Given the description of an element on the screen output the (x, y) to click on. 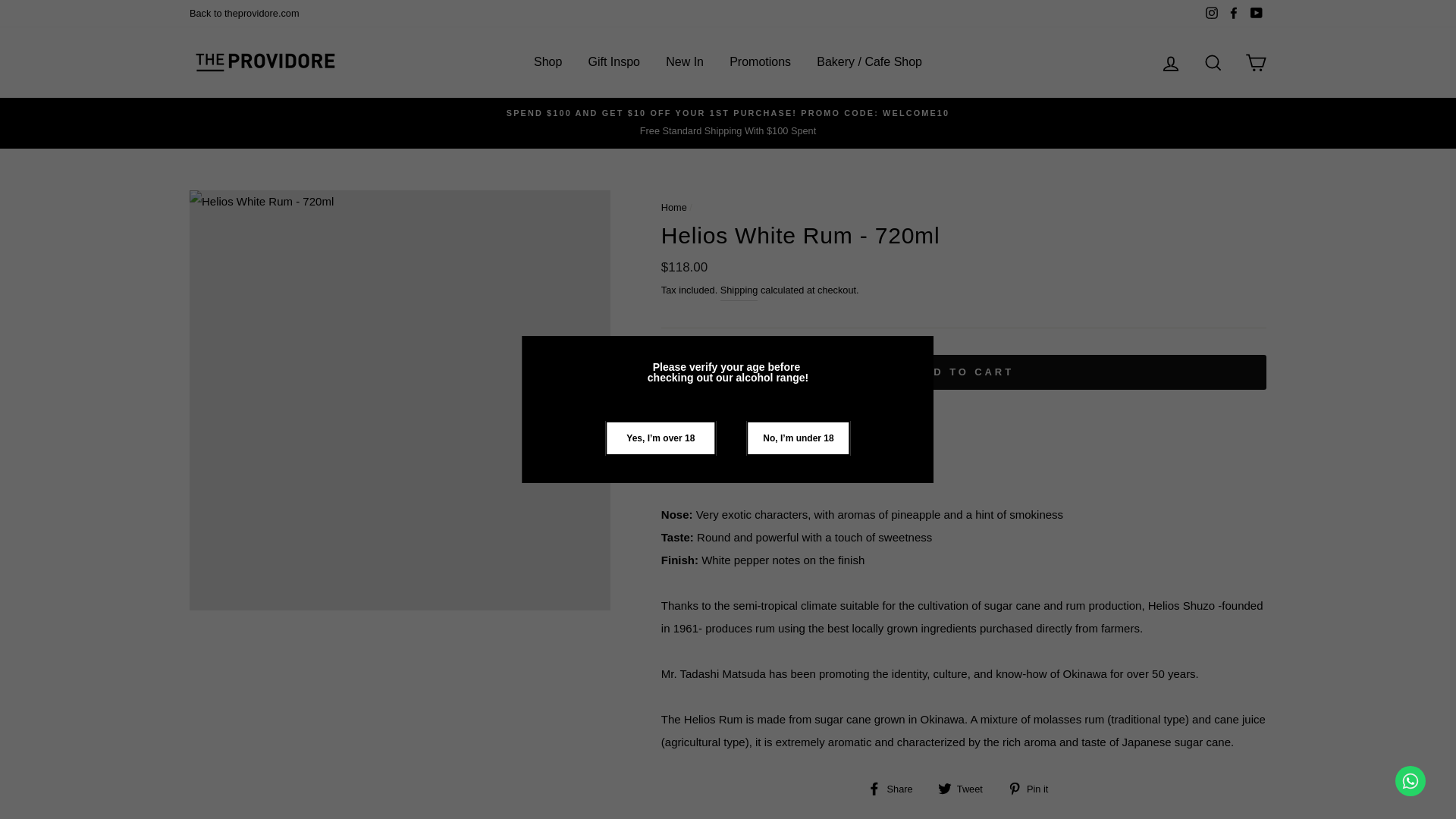
Back to the frontpage (674, 206)
Share on Facebook (895, 787)
Pin on Pinterest (1033, 787)
Tweet on Twitter (965, 787)
